Given the description of an element on the screen output the (x, y) to click on. 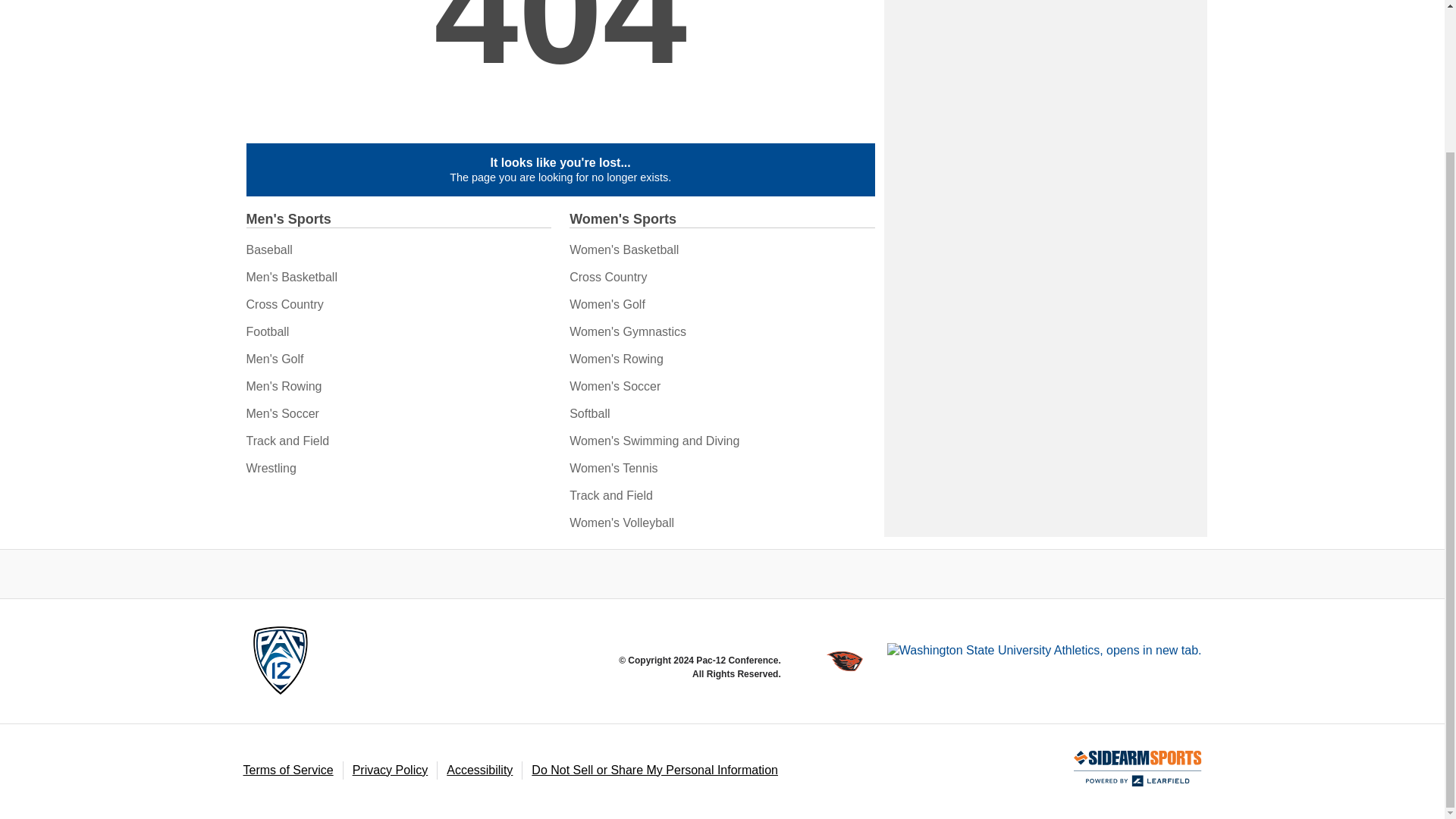
Baseball (269, 249)
Track and Field (287, 440)
Cross Country (284, 304)
Men's Golf (274, 358)
Men's Basketball (291, 277)
Men's Rowing (283, 386)
Football (267, 331)
Sidearm Sports, opens in new window (1137, 769)
Men's Soccer (282, 413)
